Given the description of an element on the screen output the (x, y) to click on. 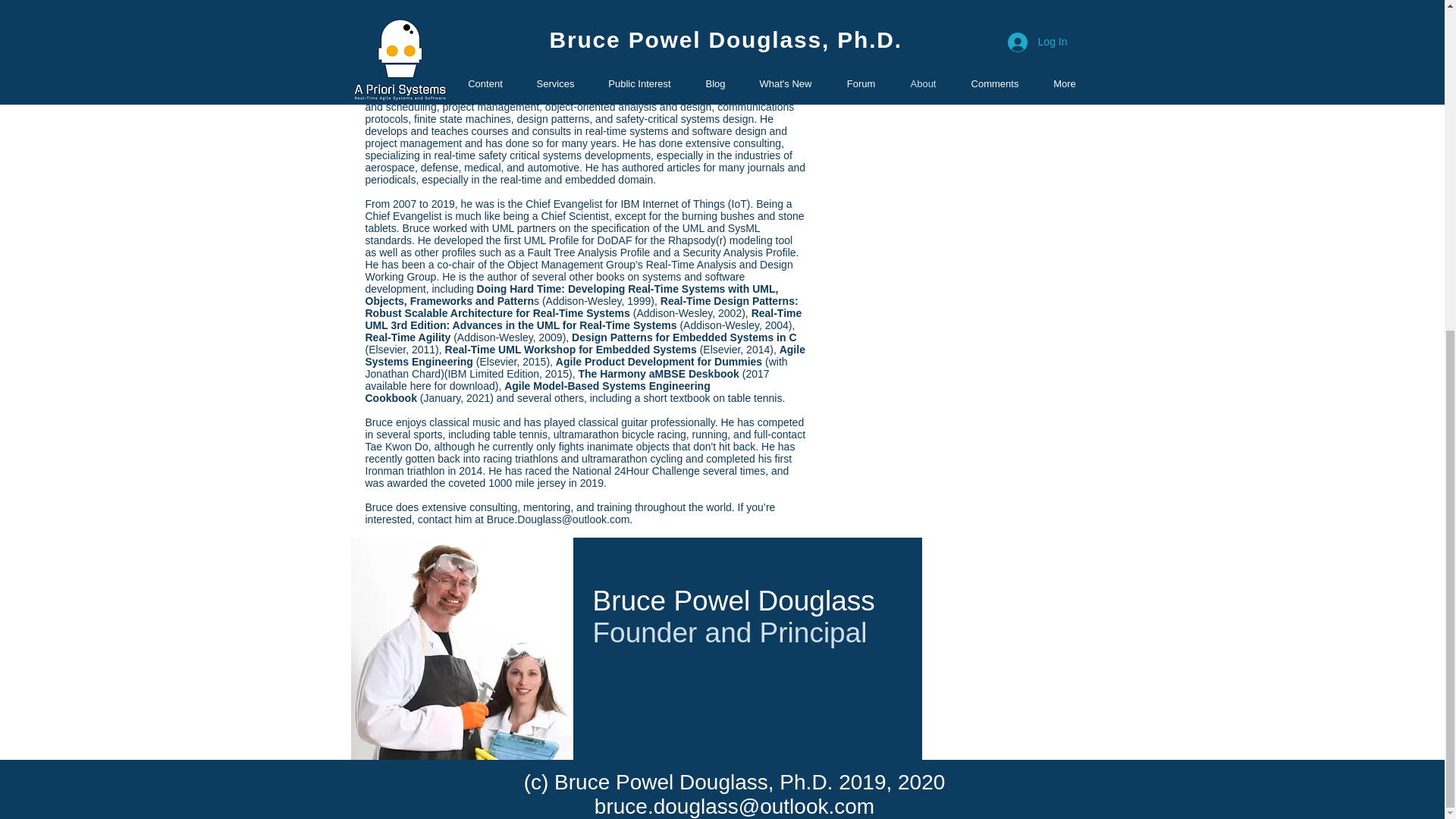
Smallwood-1 2013.jpg (947, 52)
